Given the description of an element on the screen output the (x, y) to click on. 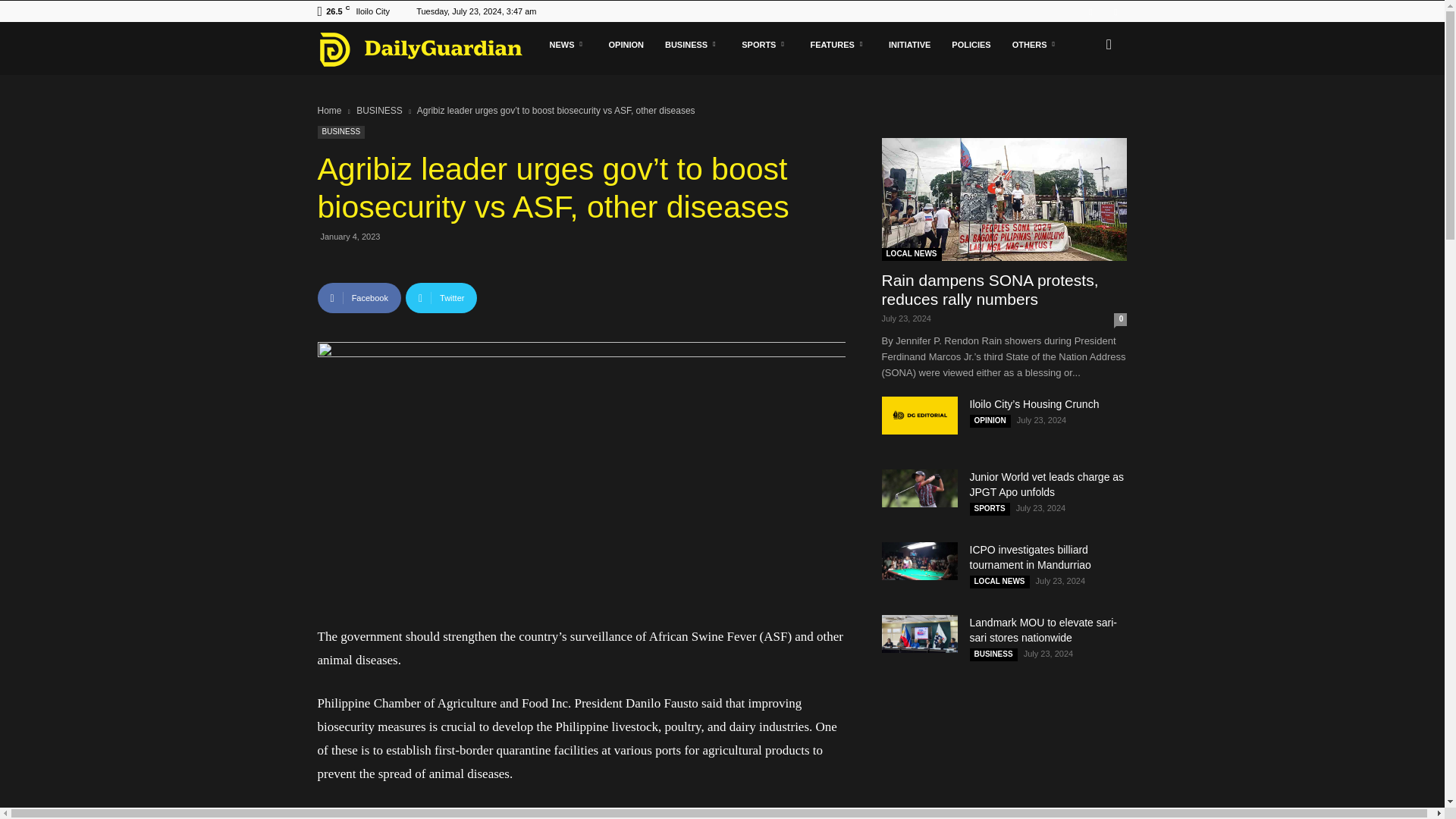
We write, you decide. (419, 48)
Daily Guardian (427, 48)
Twitter (1114, 11)
NEWS (567, 44)
Facebook (1090, 11)
